Given the description of an element on the screen output the (x, y) to click on. 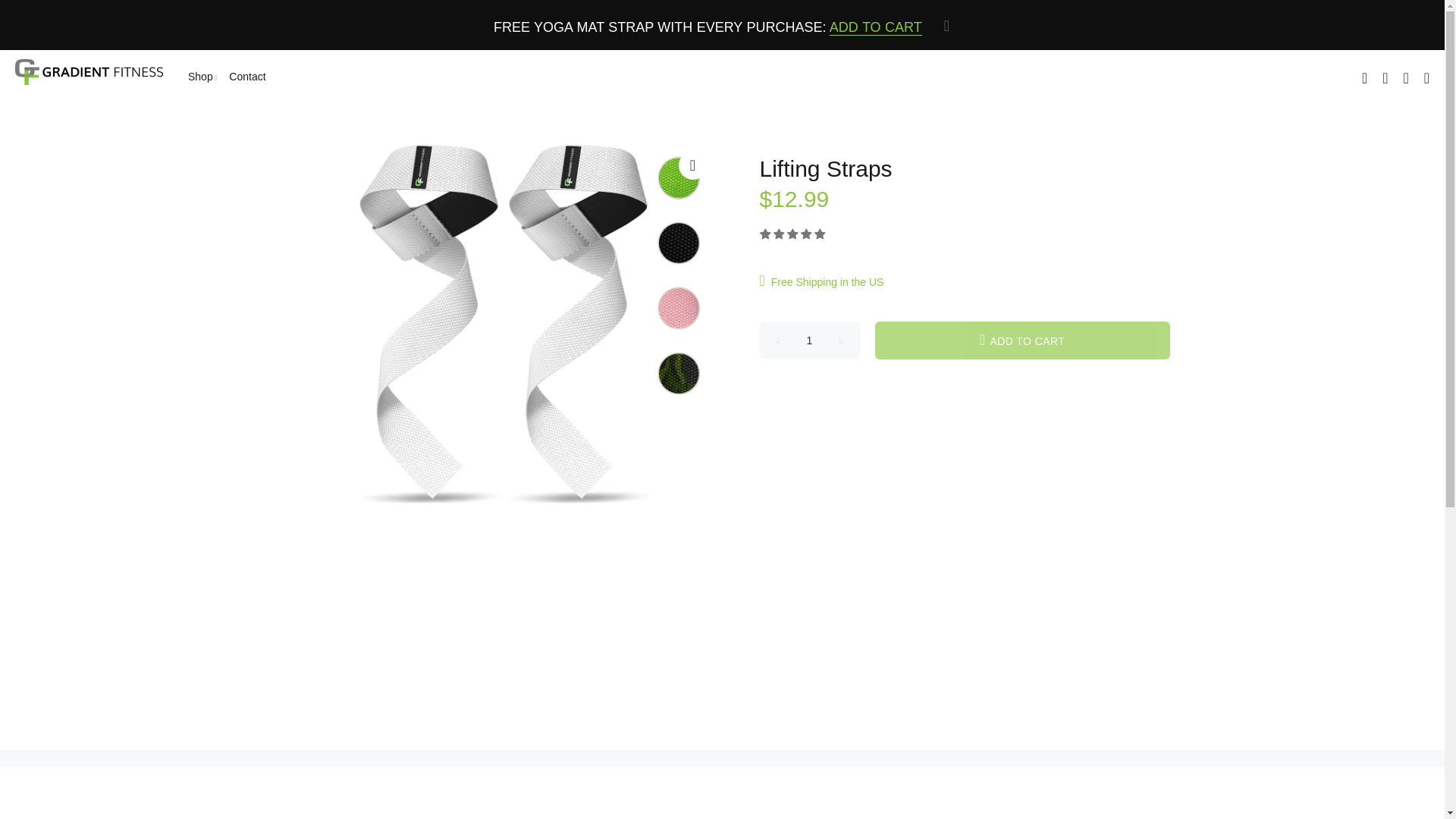
Contact (243, 76)
ADD TO CART (875, 27)
Shop (200, 76)
1 (810, 340)
